Given the description of an element on the screen output the (x, y) to click on. 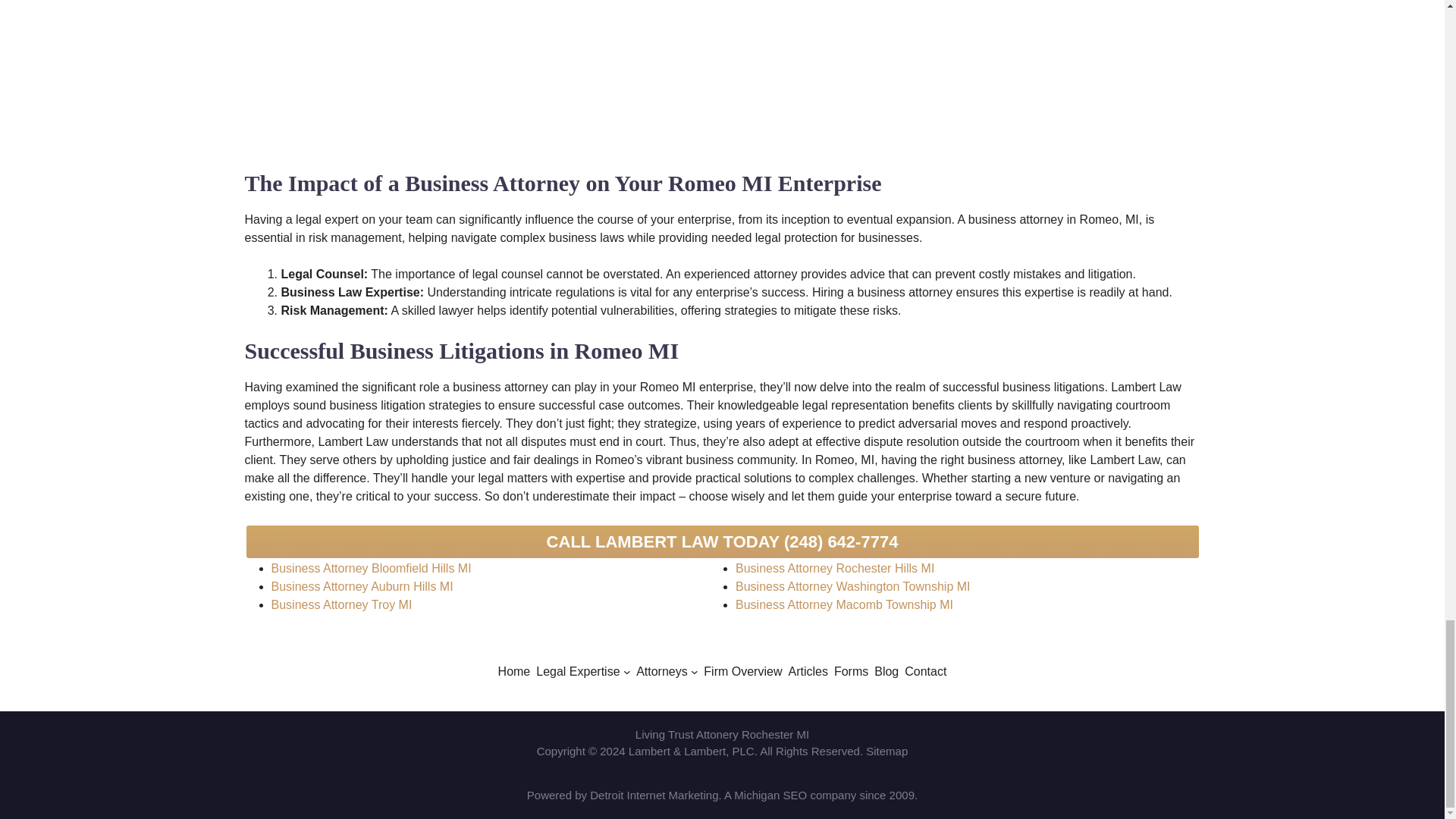
Business Attorney Rochester Hills MI (834, 567)
Firm Overview (742, 671)
Articles (807, 671)
Business Attorney Auburn Hills MI (361, 585)
Business Attorney Troy MI (341, 604)
Business Attorney Bloomfield Hills MI (370, 567)
Business Attorney Macomb Township MI (844, 604)
Attorneys (661, 671)
Home (514, 671)
Legal Expertise (577, 671)
